Given the description of an element on the screen output the (x, y) to click on. 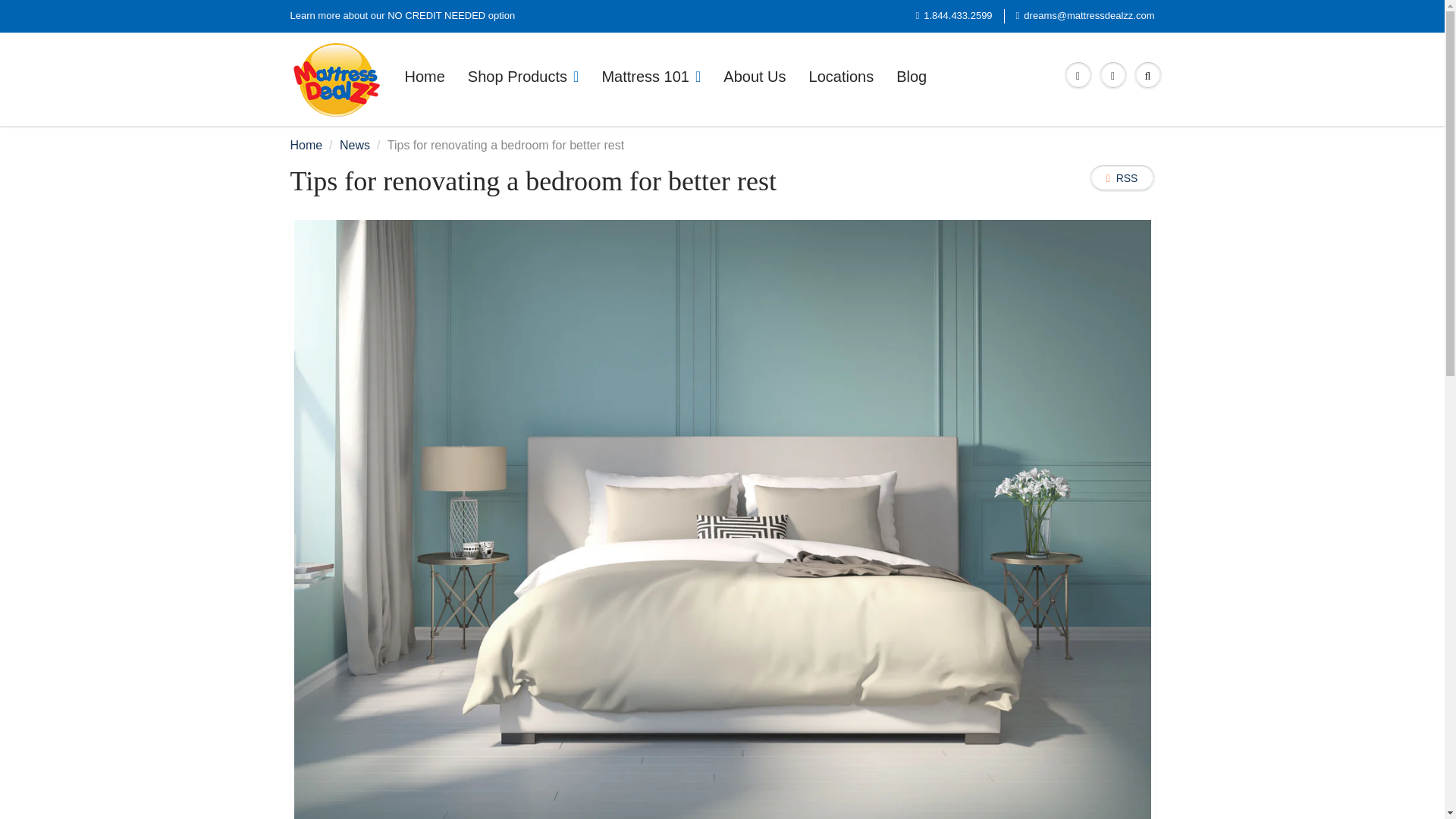
Mattress 101 (650, 76)
1.844.433.2599 (953, 16)
Shop Products (524, 76)
Locations (841, 76)
Home (424, 76)
Learn more about our NO CREDIT NEEDED option (402, 16)
About Us (753, 76)
Home (305, 144)
Blog (911, 76)
